Given the description of an element on the screen output the (x, y) to click on. 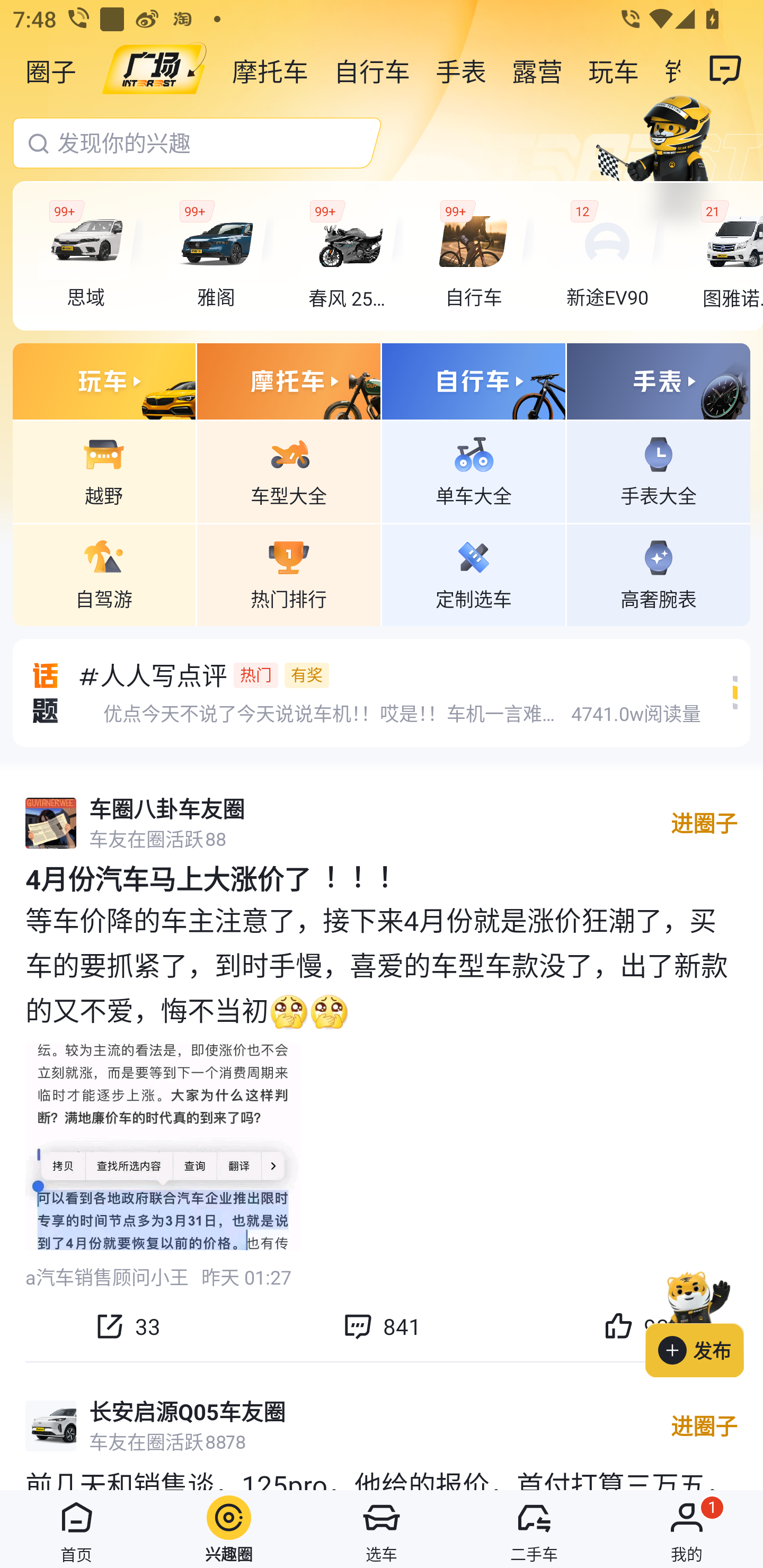
圈子 (50, 69)
image (153, 69)
摩托车 (269, 69)
自行车 (372, 69)
手表 (460, 69)
露营 (537, 69)
玩车 (613, 69)
 (726, 69)
99+ 思域 (90, 256)
99+ 雅阁 (220, 256)
99+ 春风 250SR (351, 256)
99+ 自行车 (481, 256)
12 新途EV90 (611, 256)
21 图雅诺智蓝 (726, 256)
越野 (103, 471)
车型大全 (288, 471)
单车大全 (473, 471)
手表大全 (658, 471)
自驾游 (103, 574)
热门排行 (288, 574)
定制选车 (473, 574)
高奢腕表 (658, 574)
车圈八卦车友圈 车友在圈活跃 88 进圈子 (381, 822)
发布 (704, 1320)
 33 (127, 1326)
 841 (381, 1326)
93 (635, 1326)
93 (635, 1326)
长安启源Q05车友圈 车友在圈活跃 8878 进圈子 (381, 1425)
 首页 (76, 1528)
兴趣圈 (228, 1528)
 选车 (381, 1528)
 二手车 (533, 1528)
 我的 (686, 1528)
